Given the description of an element on the screen output the (x, y) to click on. 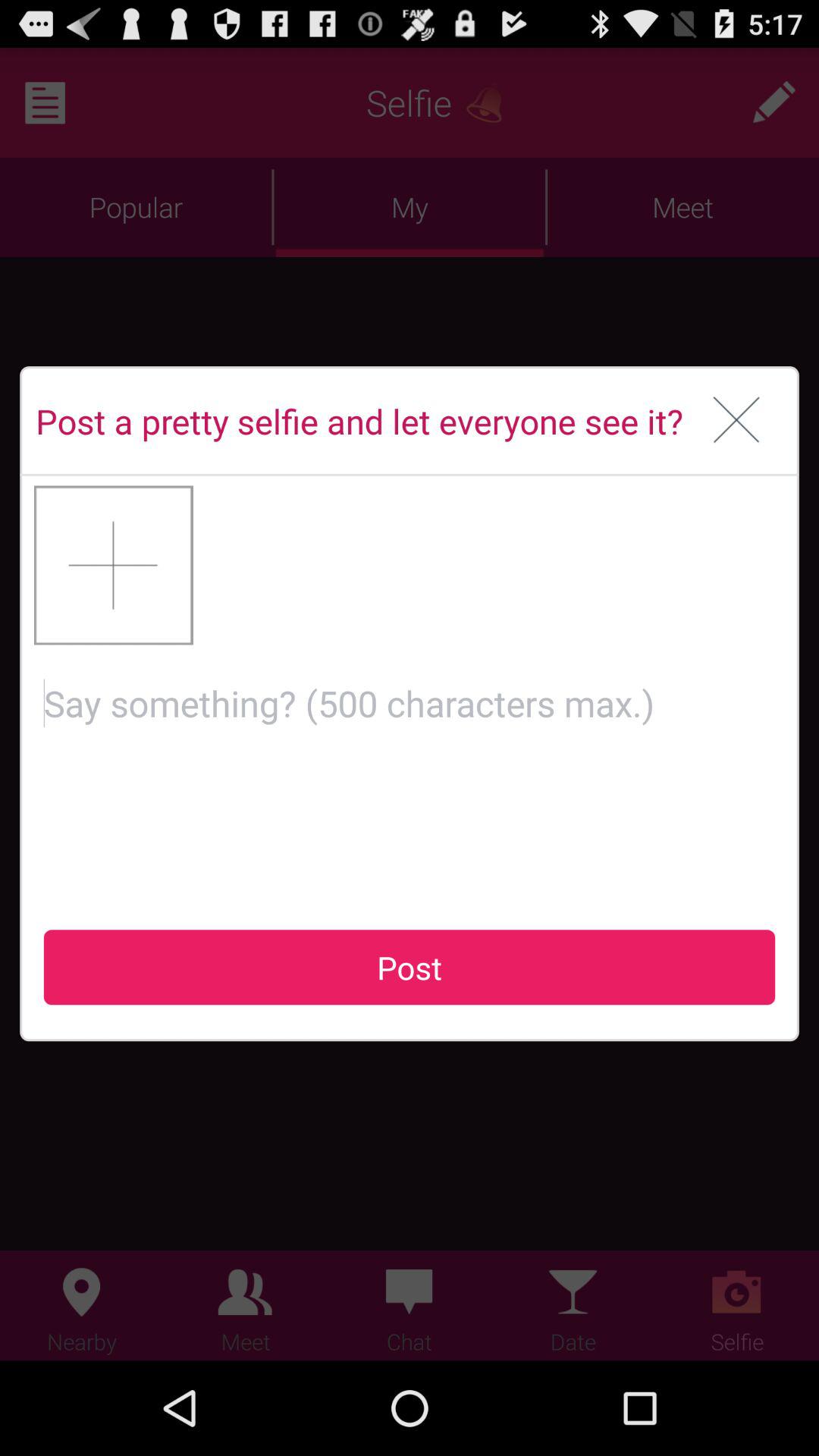
close box (736, 421)
